Given the description of an element on the screen output the (x, y) to click on. 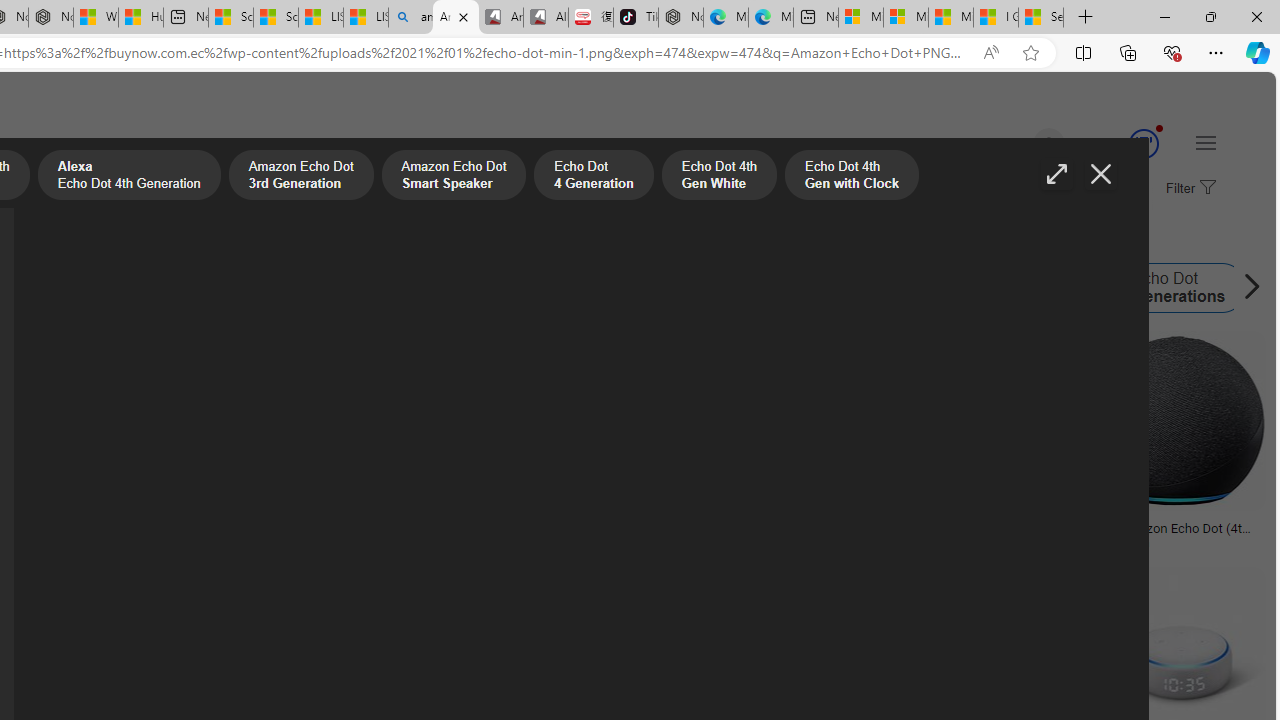
TikTok (635, 17)
Amazon Echo Plus (525, 287)
Scroll right (1246, 287)
